Given the description of an element on the screen output the (x, y) to click on. 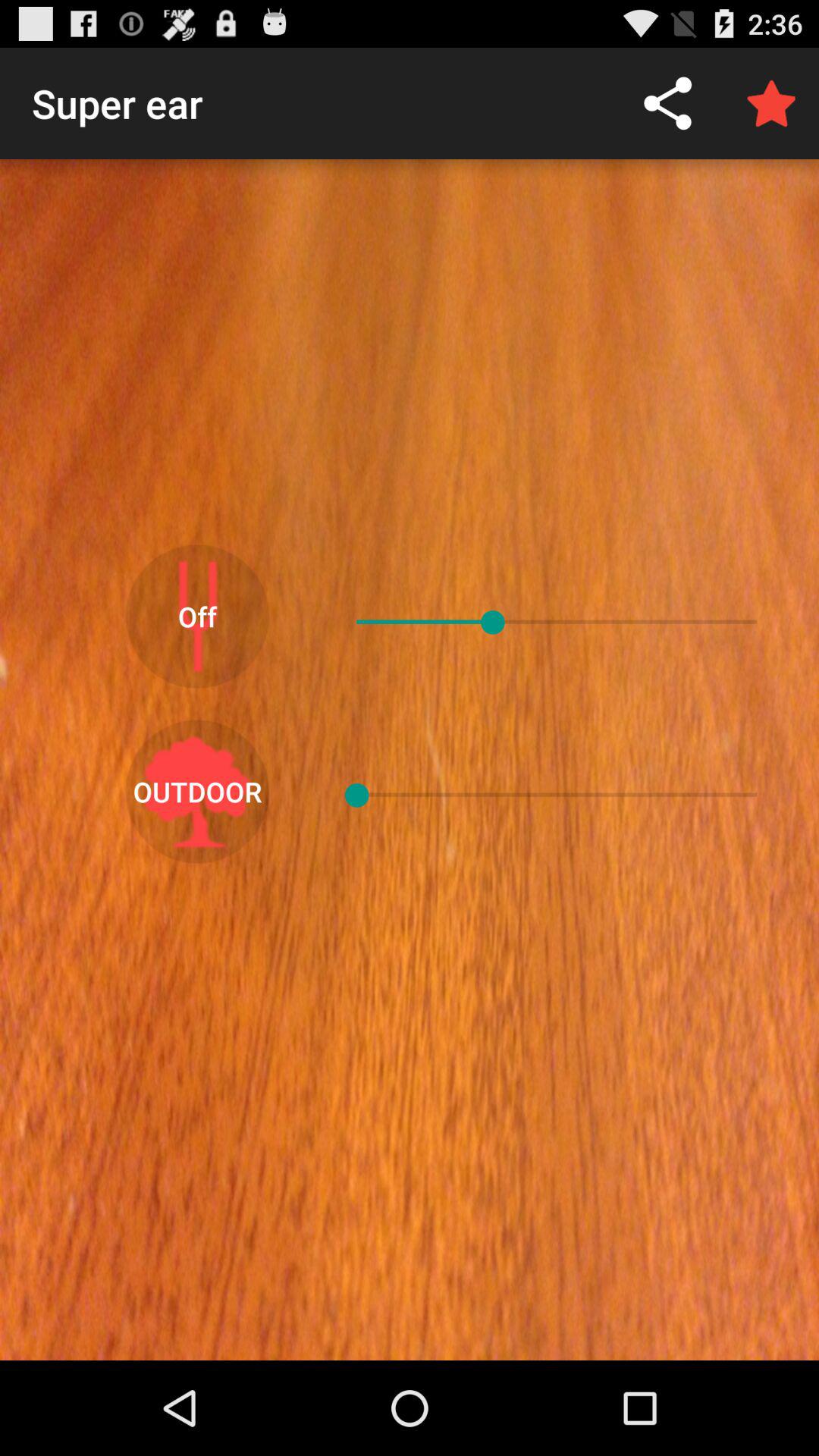
launch icon below off (196, 791)
